Given the description of an element on the screen output the (x, y) to click on. 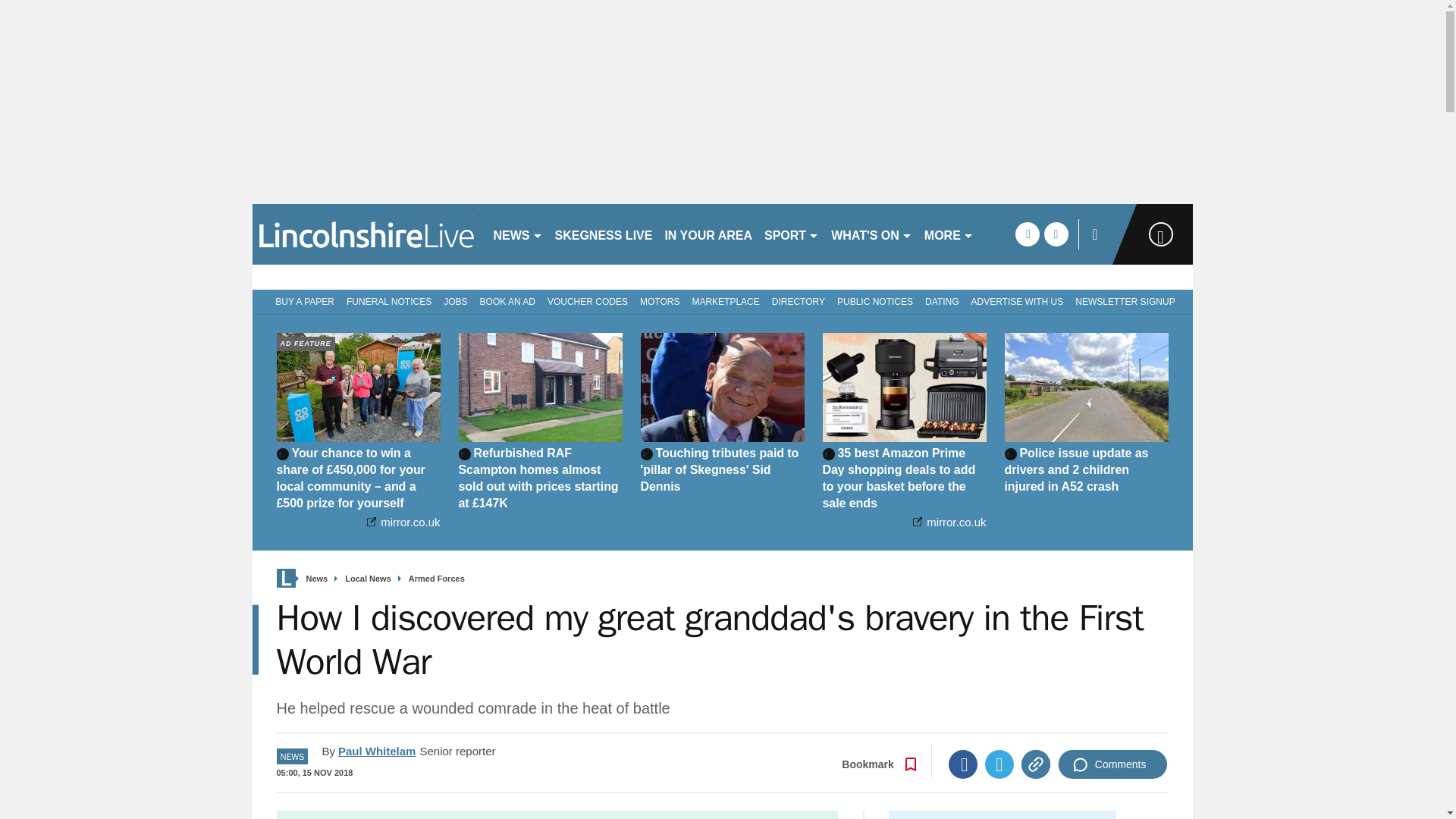
MORE (948, 233)
NEWS (517, 233)
Comments (1112, 764)
Twitter (999, 764)
facebook (1026, 233)
SPORT (791, 233)
twitter (1055, 233)
SKEGNESS LIVE (603, 233)
IN YOUR AREA (708, 233)
lincolnshirelive (365, 233)
Facebook (962, 764)
BUY A PAPER (301, 300)
WHAT'S ON (871, 233)
